Given the description of an element on the screen output the (x, y) to click on. 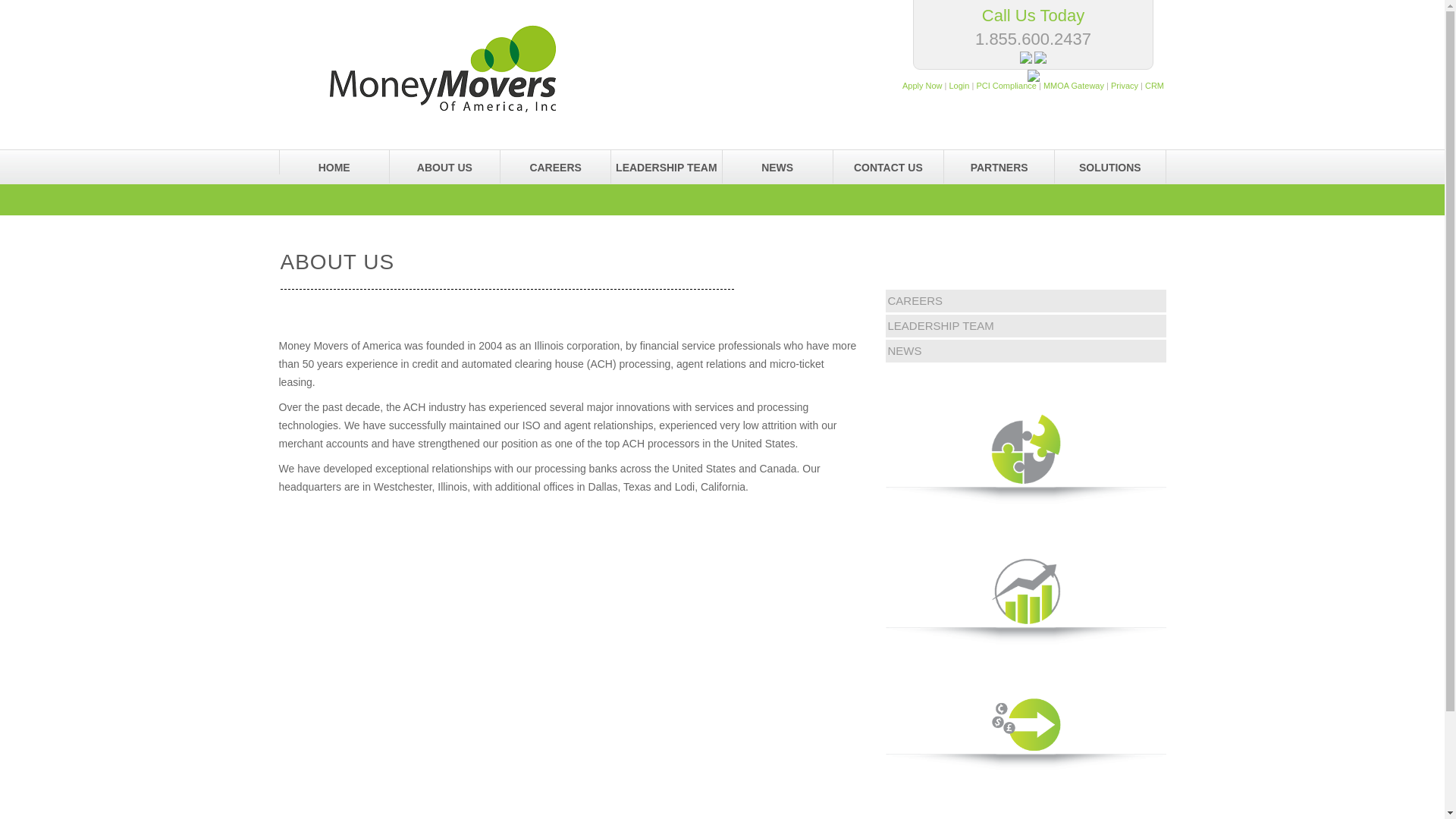
PCI Compliance (1005, 85)
NEWS (776, 161)
CONTACT US (887, 161)
LEADERSHIP TEAM (939, 325)
MMOA Gateway (1073, 85)
ABOUT US (444, 161)
HOME (333, 161)
Apply Now (922, 85)
Login (959, 85)
PARTNERS (998, 161)
CAREERS (555, 161)
CAREERS (914, 300)
LEADERSHIP TEAM (665, 161)
Privacy (1124, 85)
CRM (1153, 85)
